Given the description of an element on the screen output the (x, y) to click on. 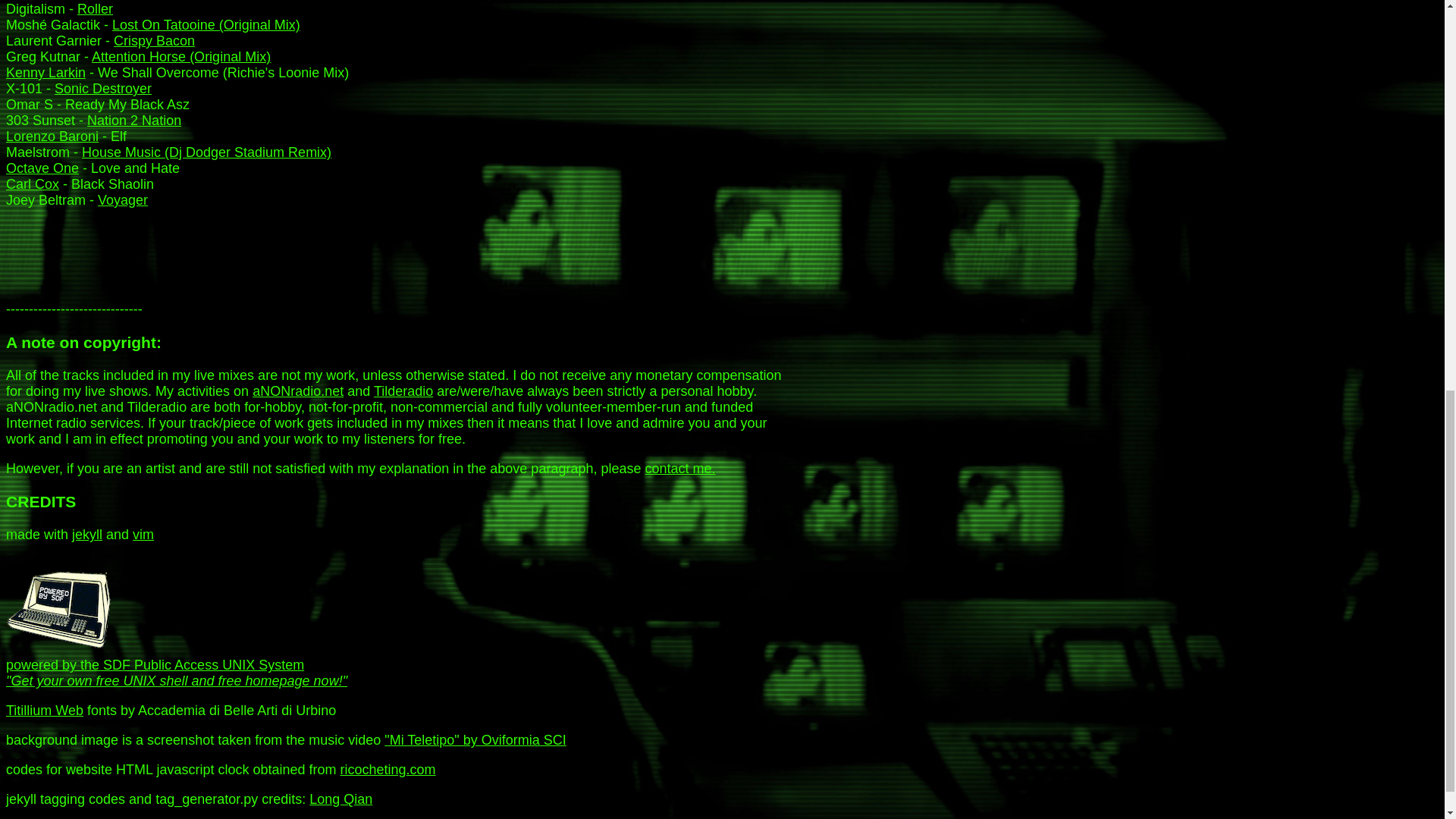
Roller (95, 8)
powered by the SDF Public Access UNIX System (62, 604)
Sonic Destroyer (103, 88)
Nation 2 Nation (133, 120)
Octave One (41, 168)
Crispy Bacon (154, 40)
Lorenzo Baroni (52, 136)
Carl Cox (32, 183)
Voyager (122, 200)
Kenny Larkin (45, 72)
aNONradio.net (297, 391)
